Given the description of an element on the screen output the (x, y) to click on. 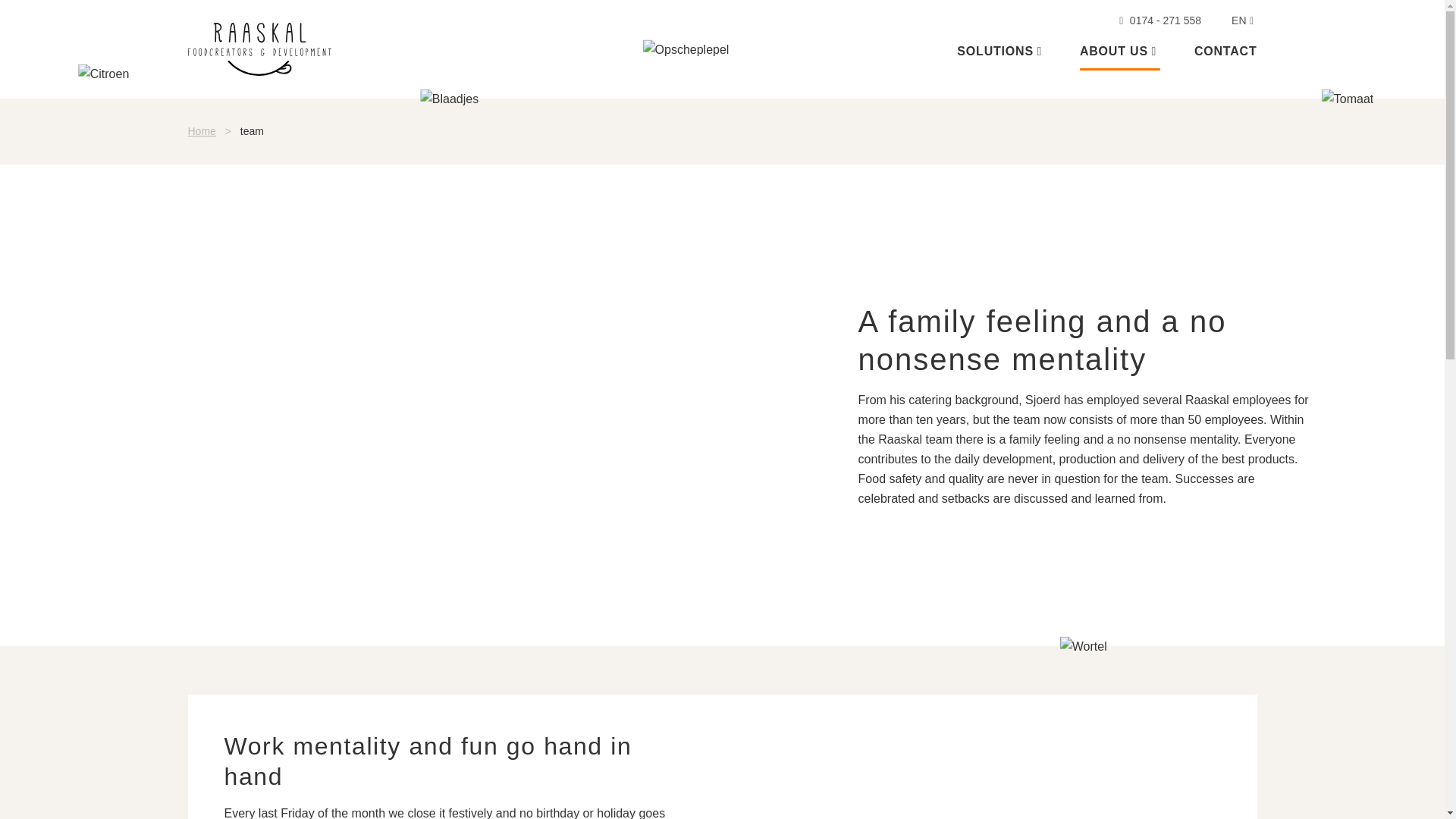
0174 - 271 558 (1158, 20)
Home (201, 131)
SOLUTIONS (1000, 51)
EN (1234, 20)
ABOUT US (1120, 51)
CONTACT (1225, 51)
